Given the description of an element on the screen output the (x, y) to click on. 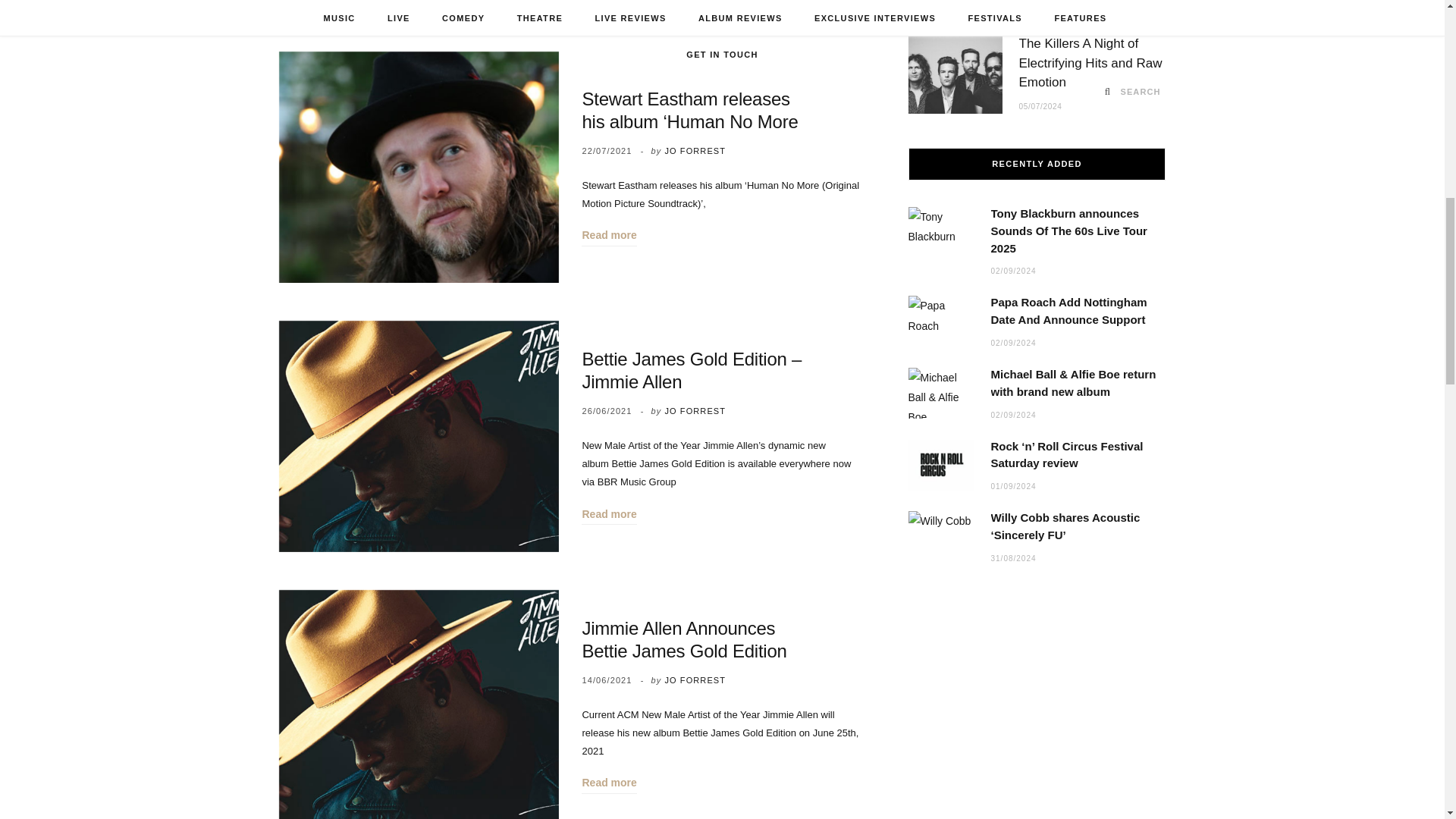
Read more (608, 783)
JO FORREST (694, 679)
JO FORREST (694, 150)
Jimmie Allen Announces Bettie James Gold Edition (419, 704)
Posts by Jo Forrest (694, 150)
Posts by Jo Forrest (694, 679)
Read more (608, 513)
Read more (608, 235)
Posts by Jo Forrest (694, 410)
Jimmie Allen Announces Bettie James Gold Edition (683, 639)
